Given the description of an element on the screen output the (x, y) to click on. 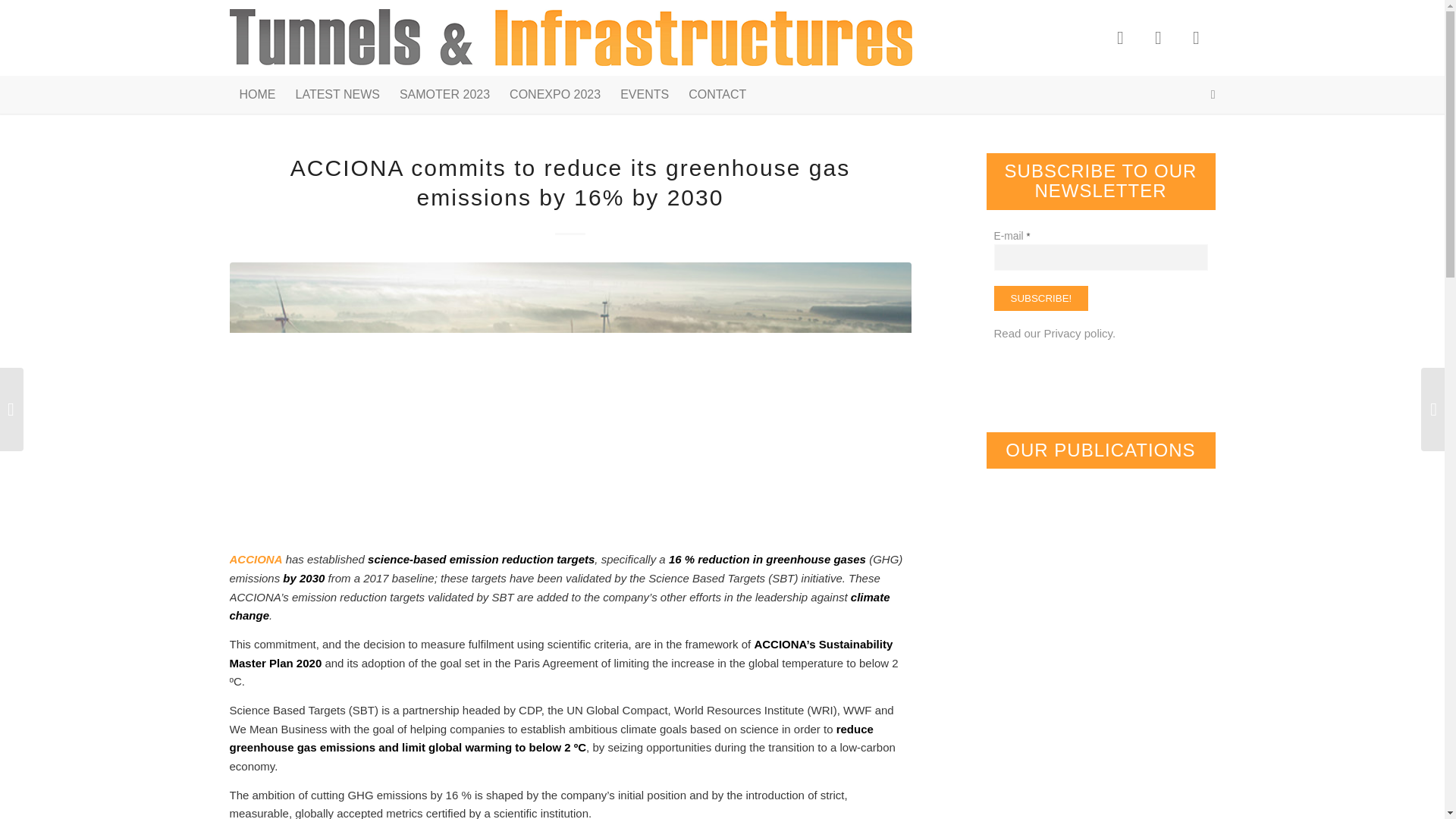
Tunnels-logo-2020-2 (569, 38)
LATEST NEWS (336, 94)
EVENTS (644, 94)
CONTACT (716, 94)
SUBSCRIBE! (1039, 298)
CONEXPO 2023 (554, 94)
Facebook (1119, 37)
HOME (256, 94)
SAMOTER 2023 (444, 94)
ACCIONA (255, 558)
Twitter (1158, 37)
LinkedIn (1196, 37)
